Given the description of an element on the screen output the (x, y) to click on. 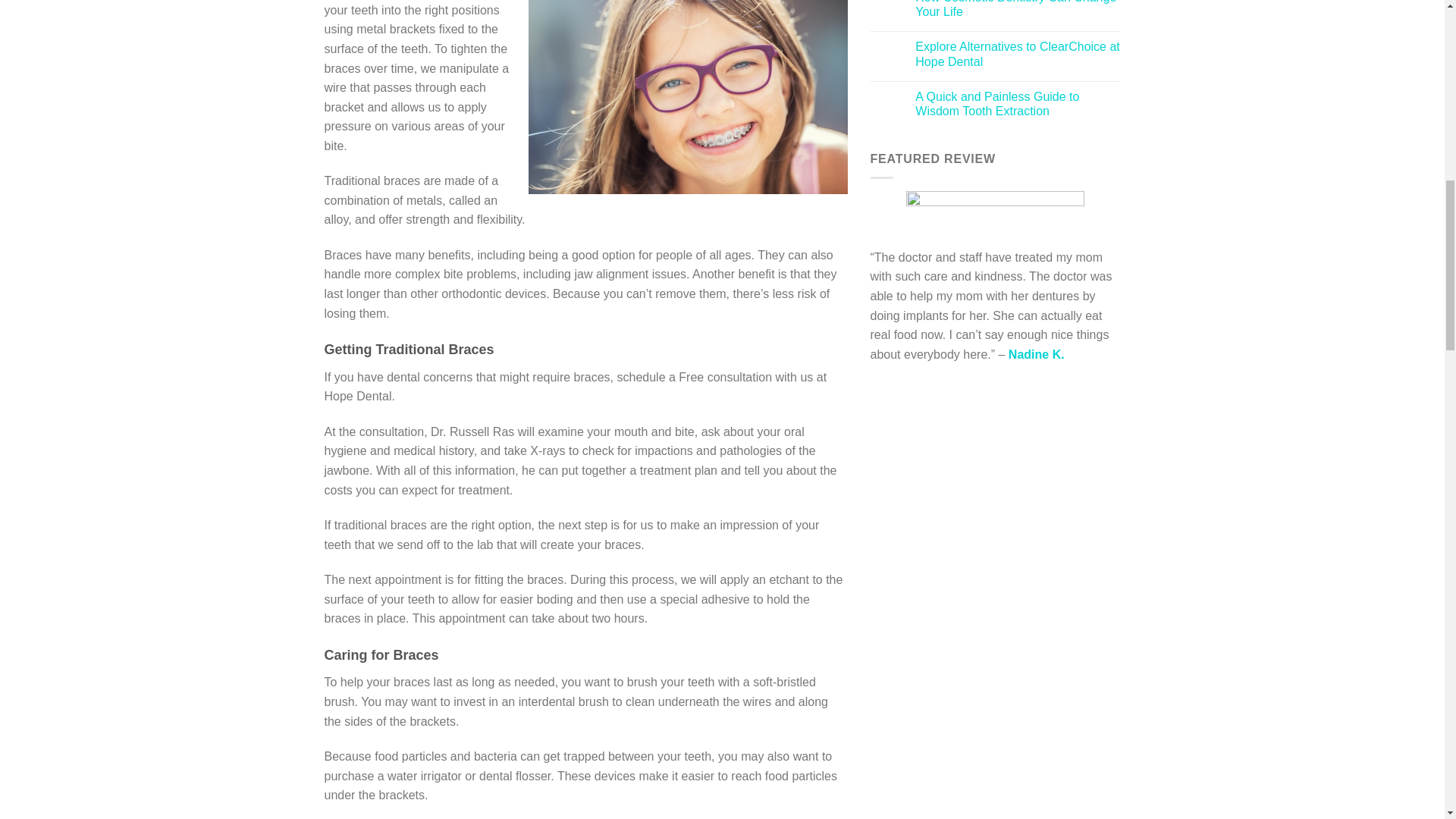
A Quick and Painless Guide to Wisdom Tooth Extraction (1017, 103)
Explore Alternatives to ClearChoice at Hope Dental (1017, 53)
How Cosmetic Dentistry Can Change Your Life (1017, 9)
